Given the description of an element on the screen output the (x, y) to click on. 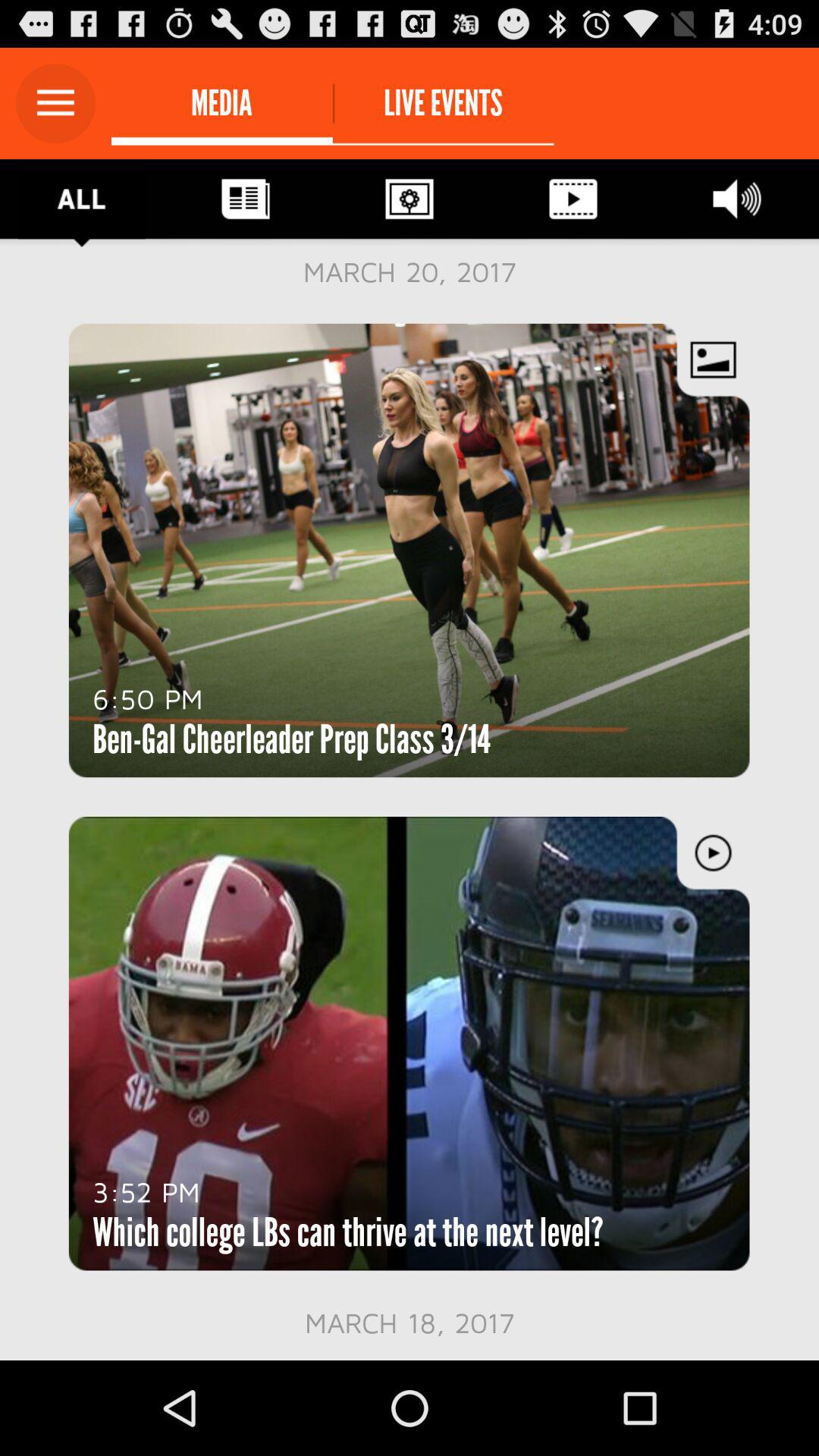
select the symbol which is below live events (409, 199)
click the first video below march 20 2017 (409, 550)
click on the image which is showing the text 352 pm (409, 1043)
go to fourth option in second row (573, 199)
